Given the description of an element on the screen output the (x, y) to click on. 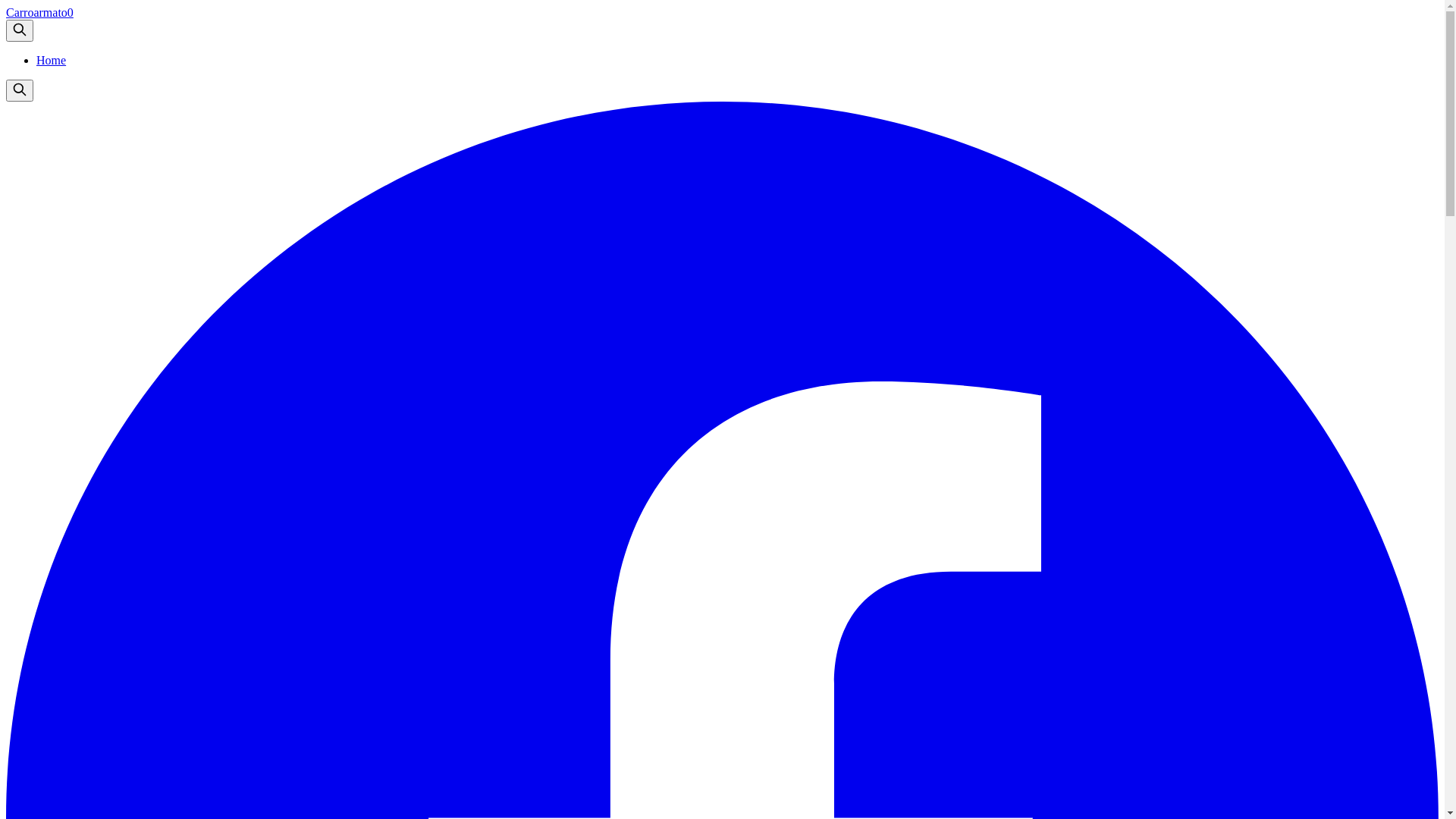
Carroarmato0 Element type: text (39, 12)
Home Element type: text (50, 59)
